Given the description of an element on the screen output the (x, y) to click on. 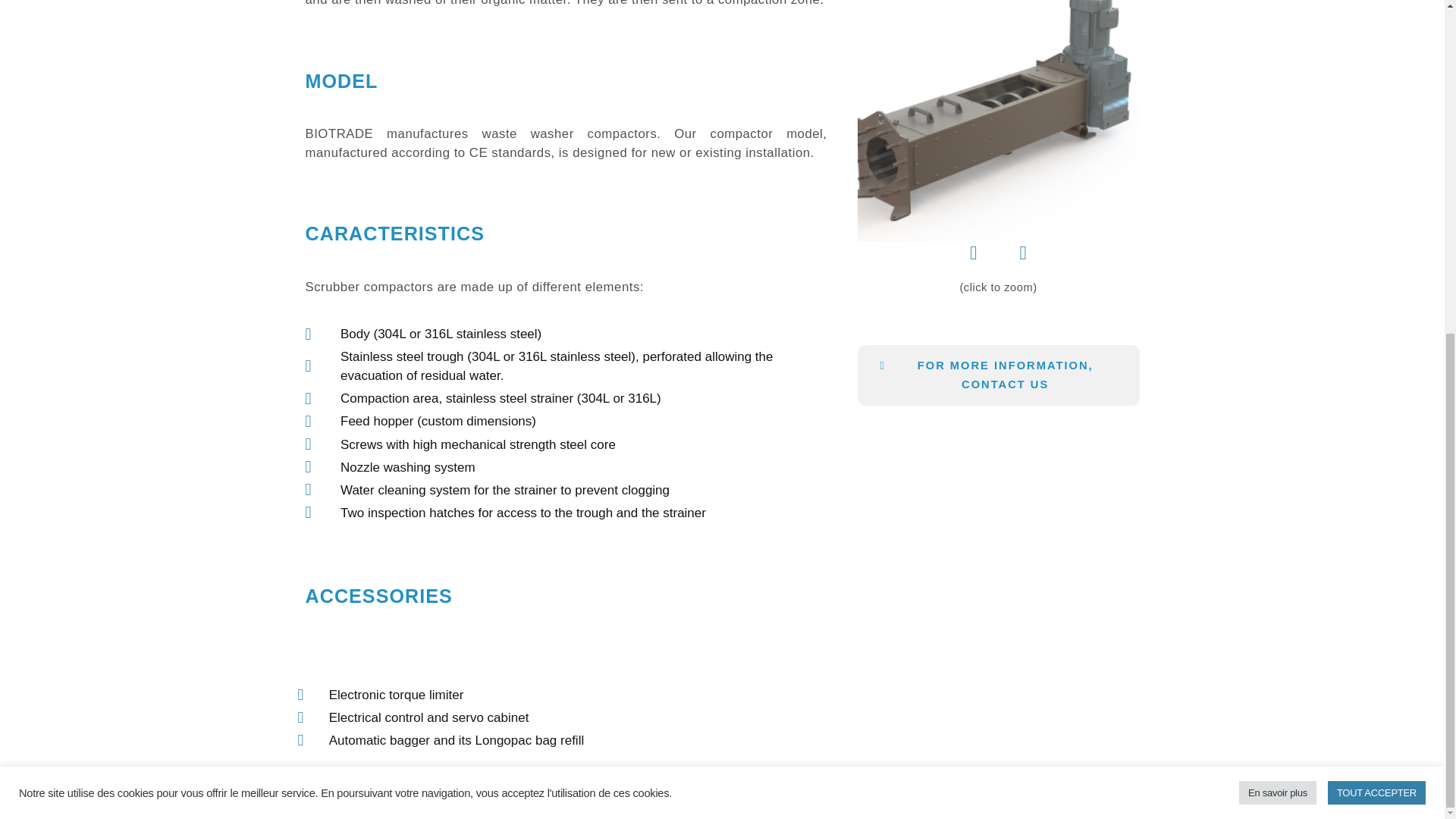
En savoir plus (1277, 236)
FOR MORE INFORMATION, CONTACT US (997, 374)
TOUT ACCEPTER (1376, 236)
